Given the description of an element on the screen output the (x, y) to click on. 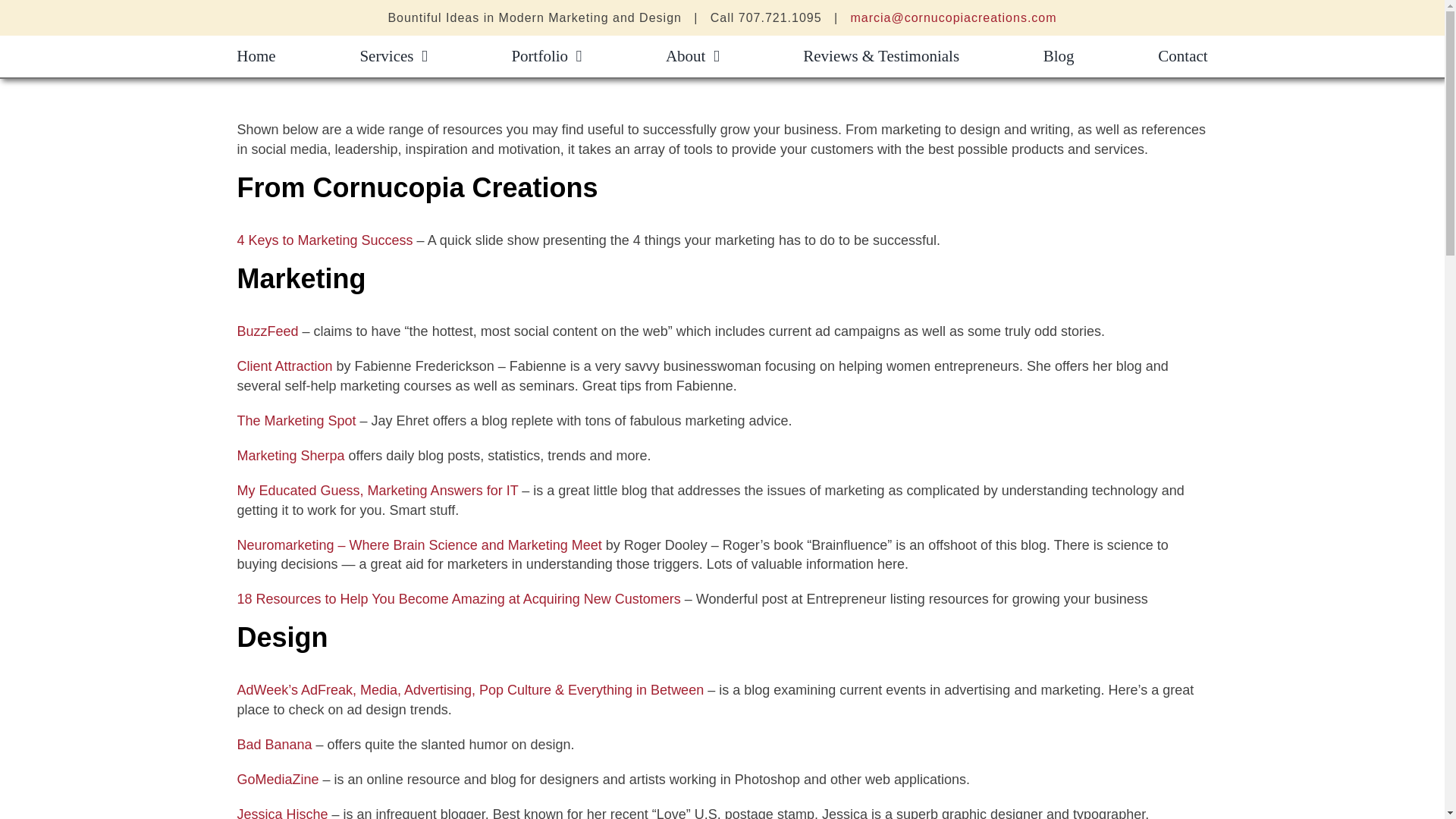
Contact (1182, 56)
Portfolio (545, 56)
Home (255, 56)
Services (392, 56)
Blog (1058, 56)
About (692, 56)
